Given the description of an element on the screen output the (x, y) to click on. 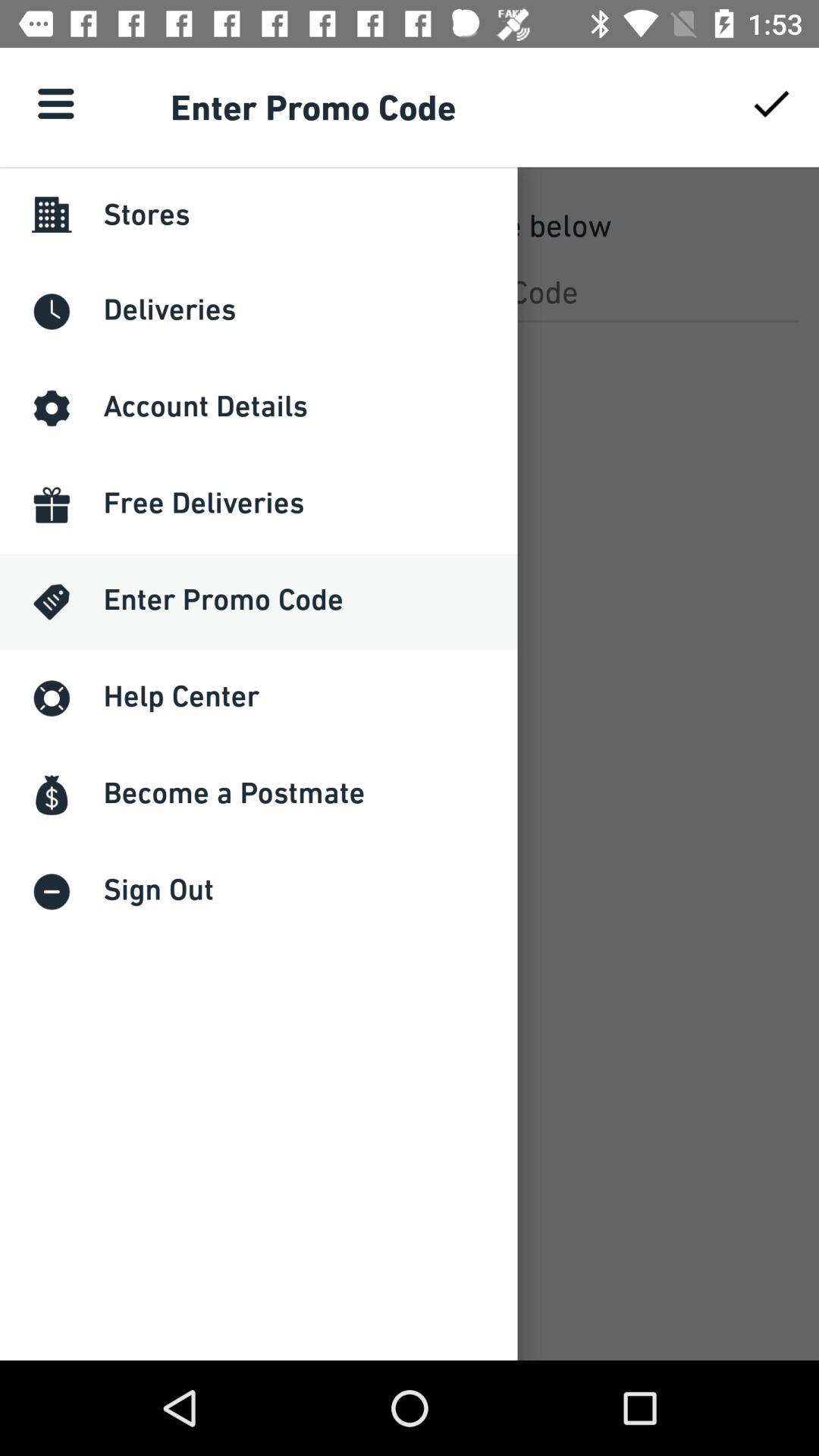
deliveries (409, 291)
